Given the description of an element on the screen output the (x, y) to click on. 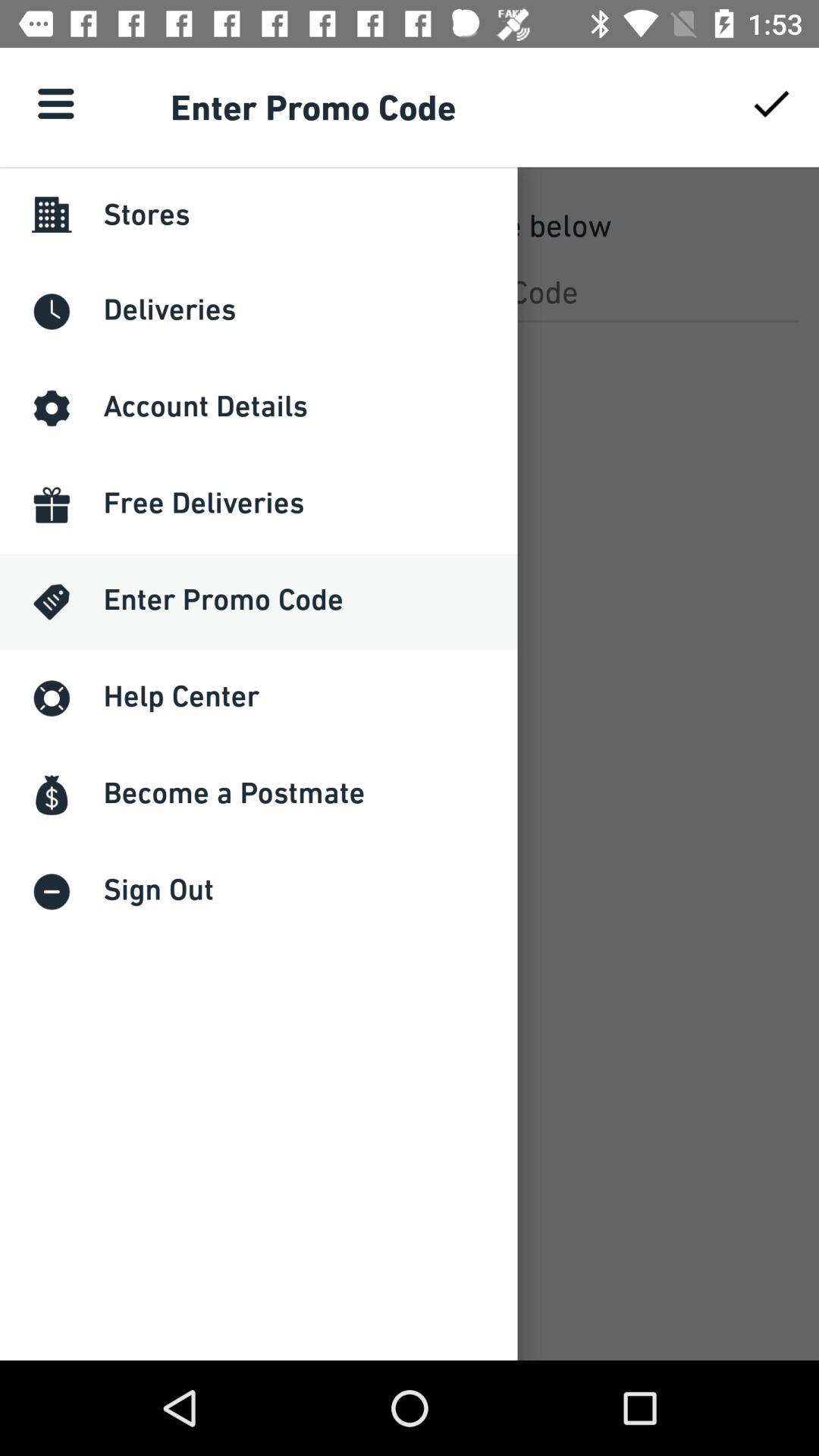
deliveries (409, 291)
